Given the description of an element on the screen output the (x, y) to click on. 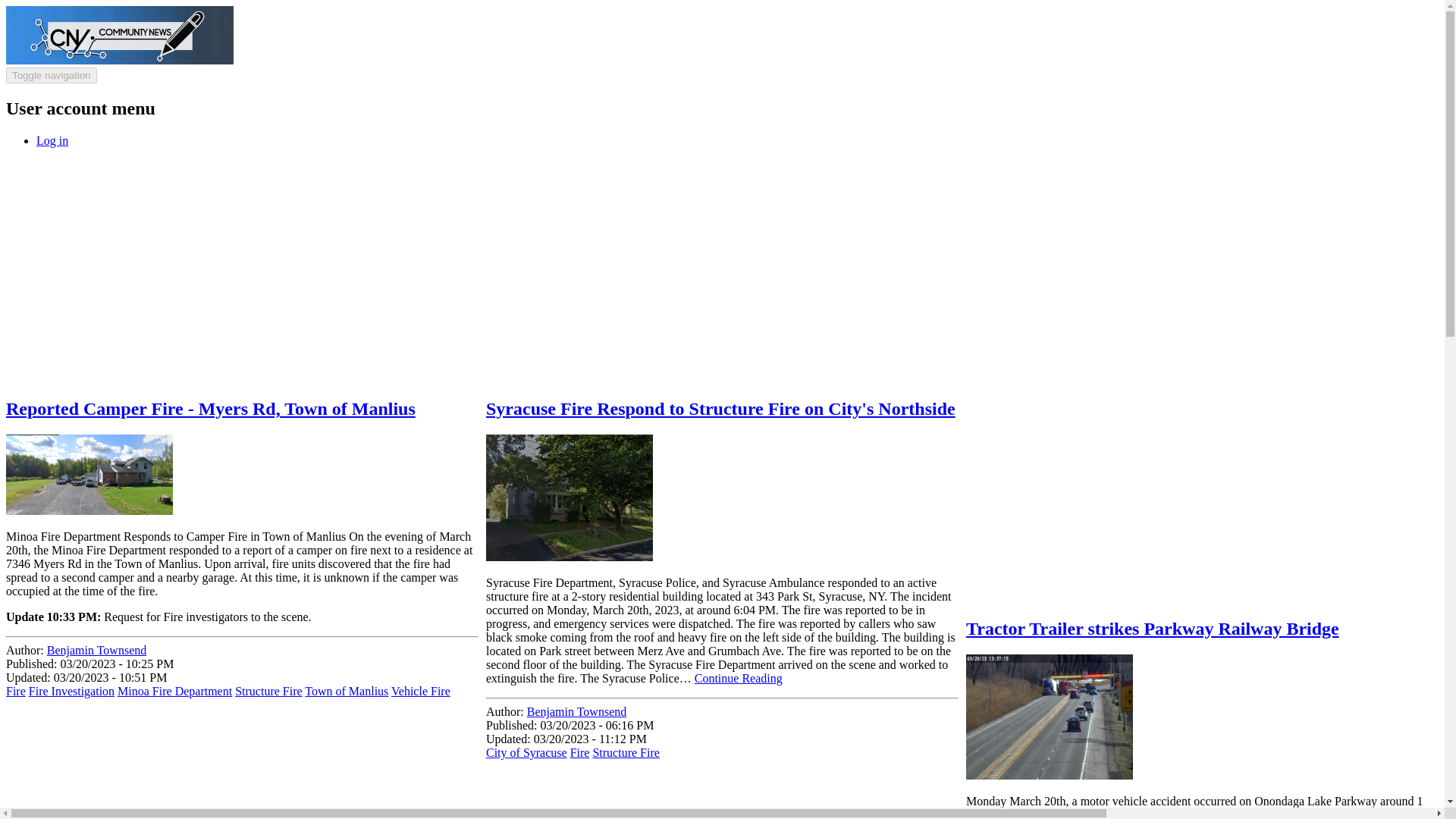
Structure Fire (267, 690)
Home (118, 60)
Fire (15, 690)
Log in (52, 140)
Toggle navigation (51, 75)
Minoa Fire Department (174, 690)
Fire (579, 752)
Image of residence from Google Streeview (89, 474)
Traffic Camera's on NY-370 west of the bridge (1049, 716)
Syracuse Fire Respond to Structure Fire on City's Northside (720, 408)
Tractor Trailer strikes Parkway Railway Bridge (1152, 628)
Advertisement (941, 793)
Reported Camper Fire - Myers Rd, Town of Manlius (209, 408)
